Given the description of an element on the screen output the (x, y) to click on. 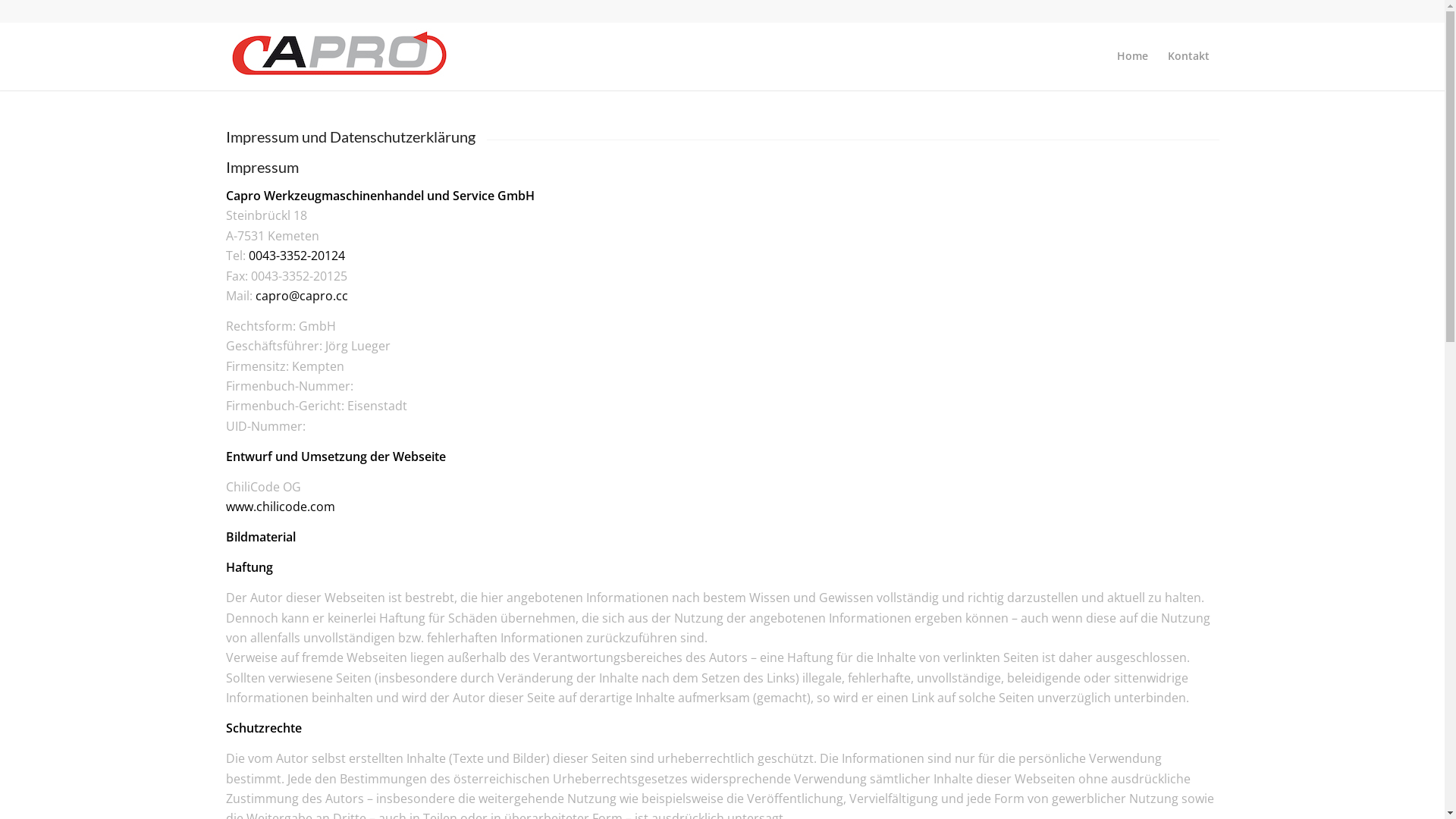
Kontakt Element type: text (1187, 55)
0043-3352-20124 Element type: text (296, 255)
logo_klein Element type: hover (339, 55)
www.chilicode.com Element type: text (280, 506)
capro@capro.cc Element type: text (300, 295)
Home Element type: text (1132, 55)
logo_klein Element type: hover (339, 50)
